Given the description of an element on the screen output the (x, y) to click on. 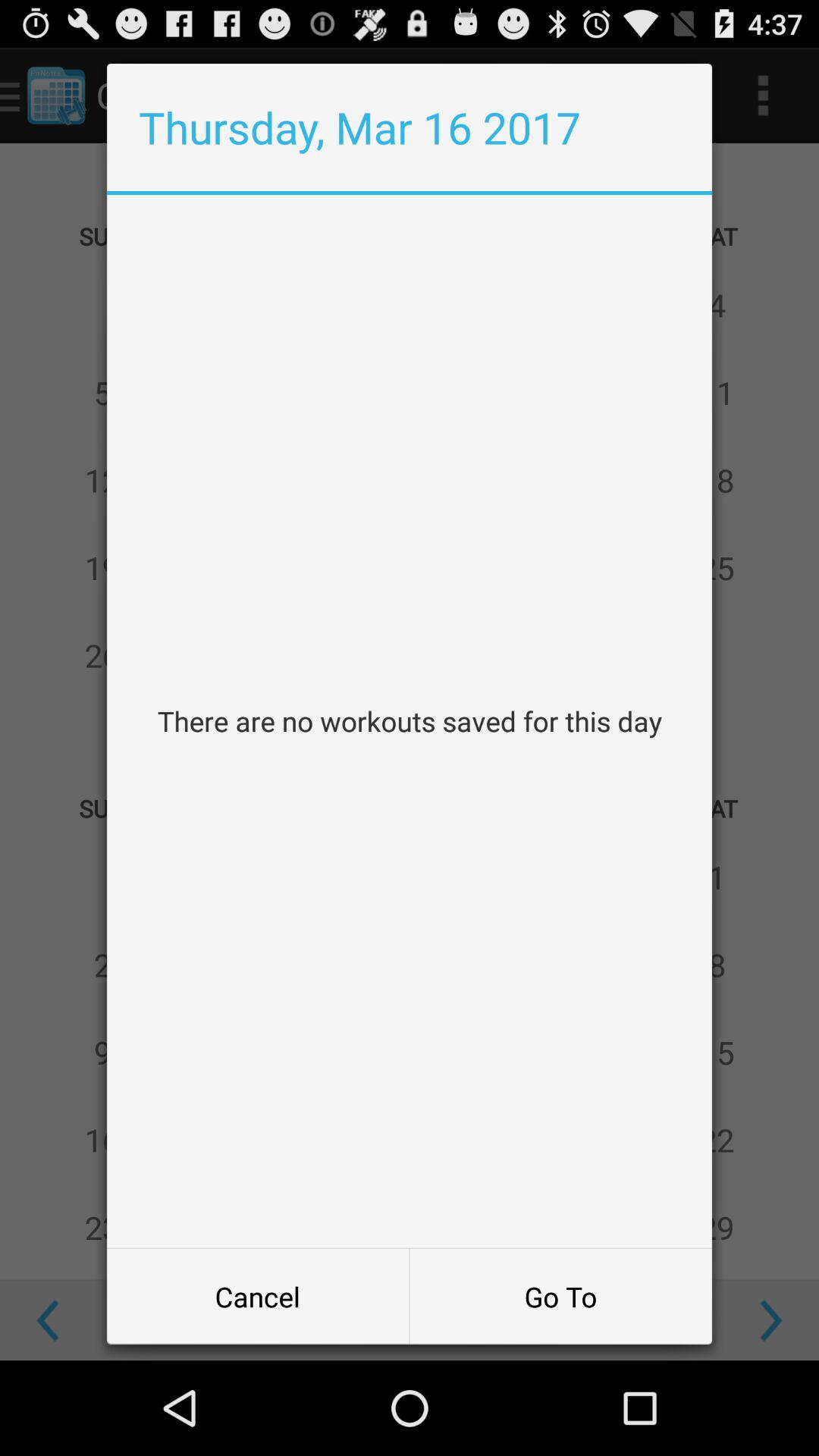
click the button to the right of the cancel button (561, 1296)
